Given the description of an element on the screen output the (x, y) to click on. 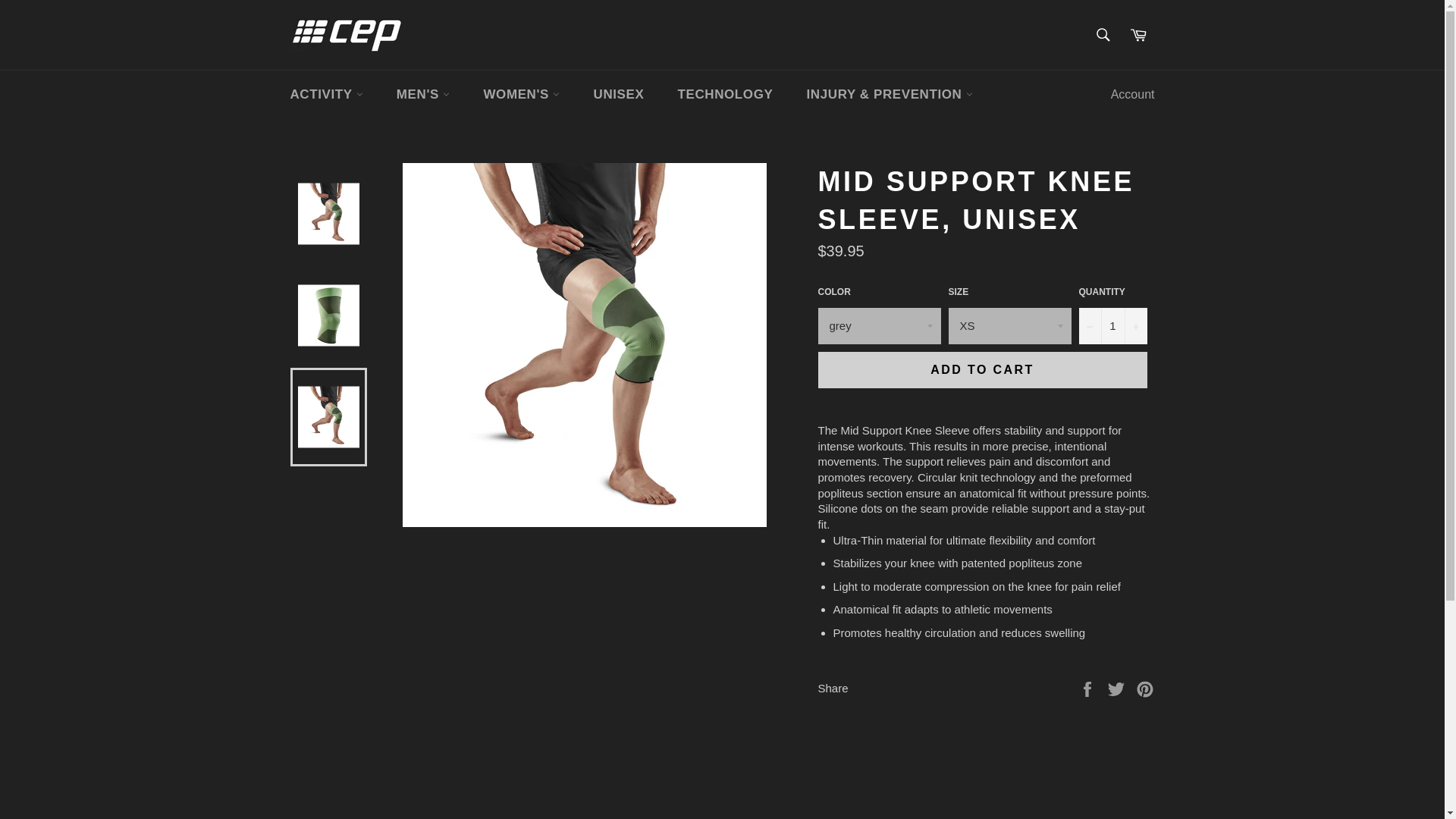
Cart (1138, 34)
pinterest (1144, 687)
1 (1112, 325)
facebook (1088, 687)
twitter (1117, 687)
Search (1103, 34)
ACTIVITY (326, 93)
